Given the description of an element on the screen output the (x, y) to click on. 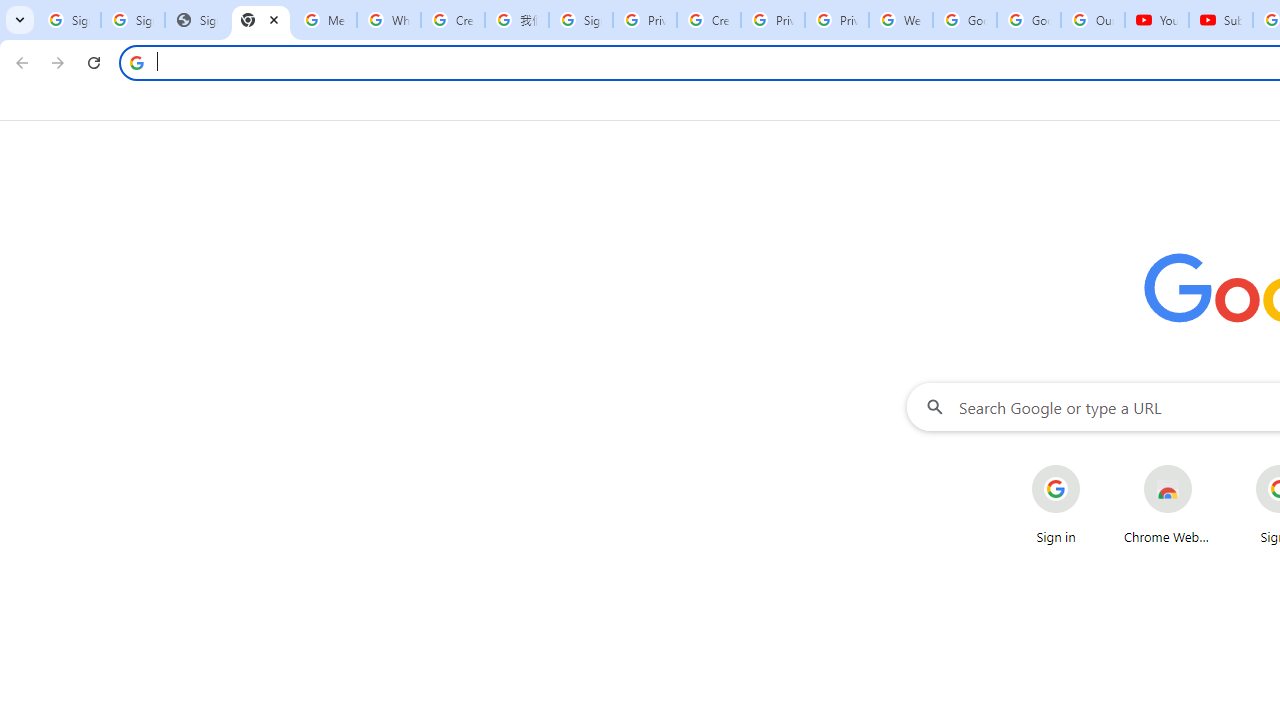
More actions for Sign in shortcut (1095, 466)
Subscriptions - YouTube (1221, 20)
Who is my administrator? - Google Account Help (389, 20)
Chrome Web Store (1167, 504)
Reload (93, 62)
Create your Google Account (709, 20)
Create your Google Account (453, 20)
Sign in (1055, 504)
Google Account (1029, 20)
Search tabs (20, 20)
